Given the description of an element on the screen output the (x, y) to click on. 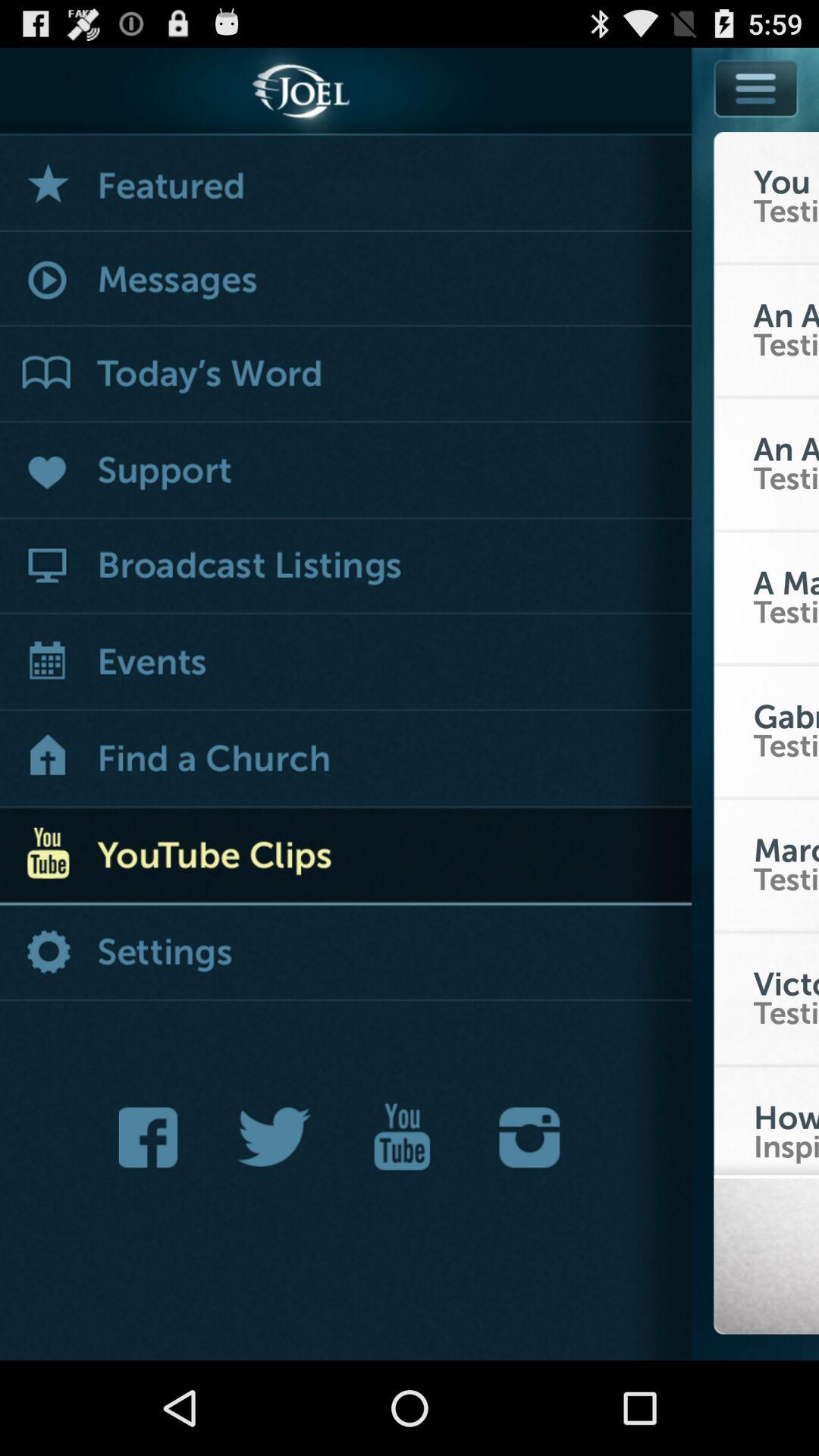
youtube clips (345, 856)
